Given the description of an element on the screen output the (x, y) to click on. 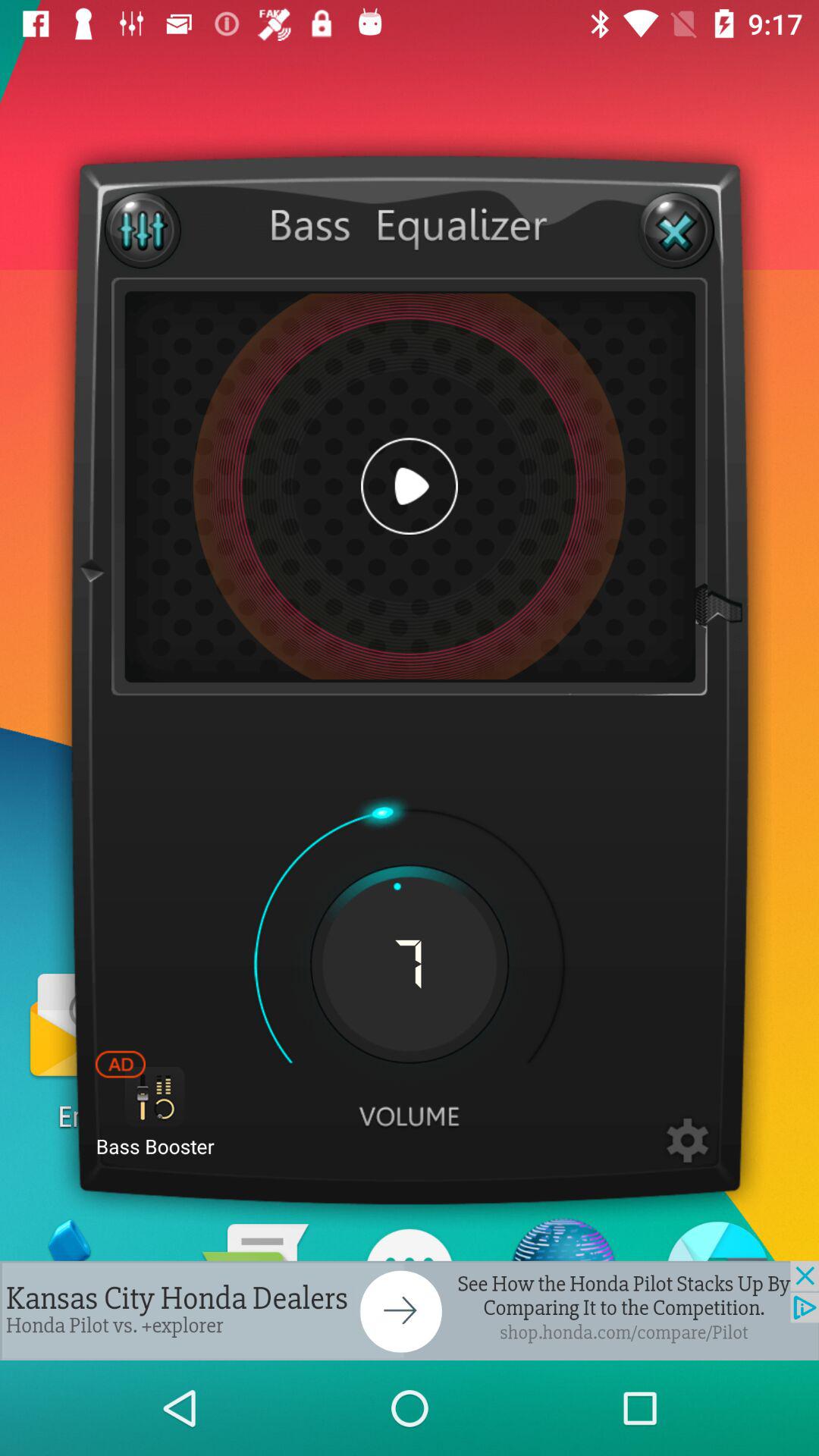
click to close (676, 230)
